Given the description of an element on the screen output the (x, y) to click on. 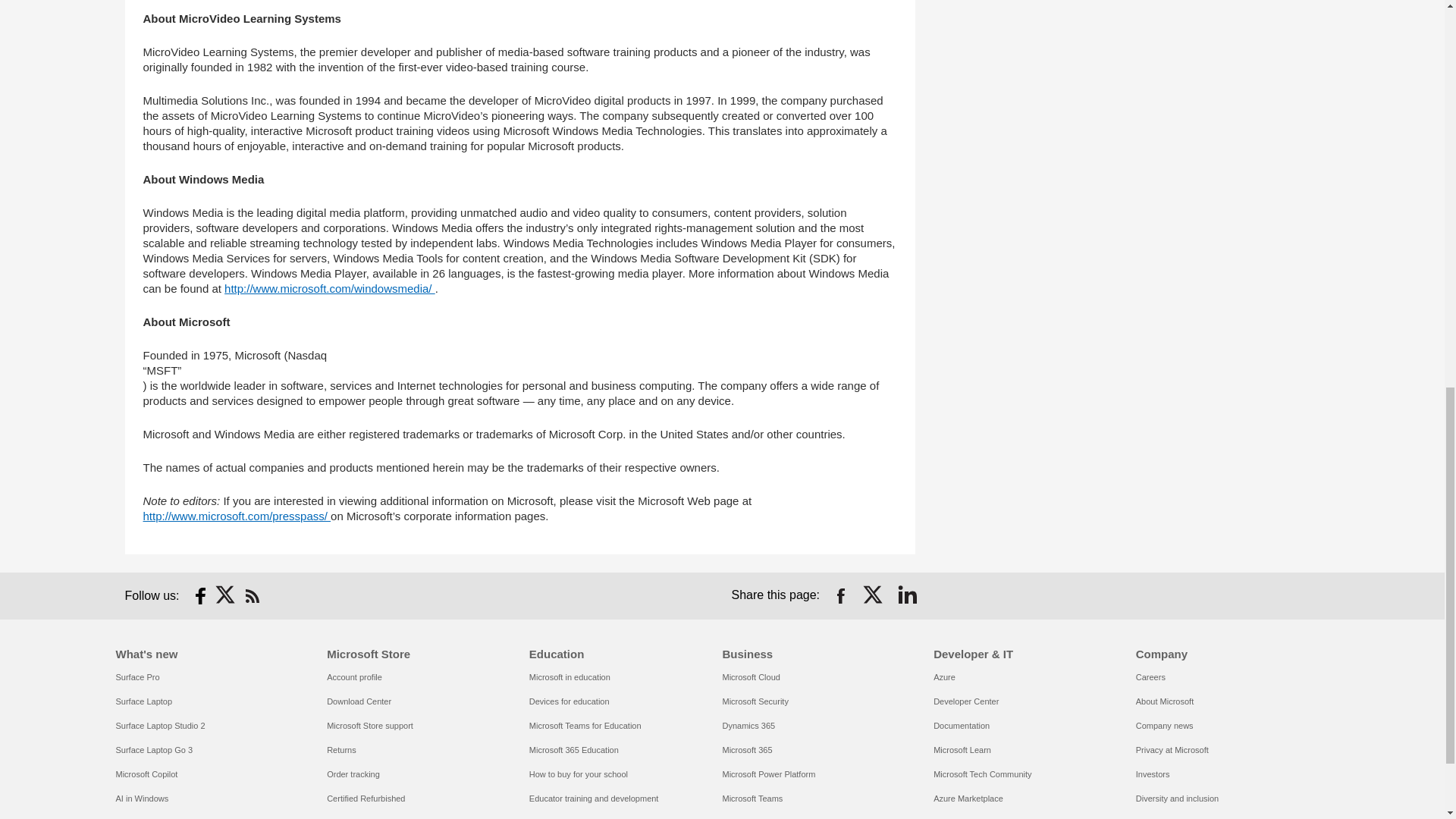
Share on Twitter (873, 595)
Share on Facebook (840, 595)
Follow on Twitter (226, 595)
RSS Subscription (252, 595)
Follow on Facebook (200, 595)
Share on LinkedIn (907, 595)
